Given the description of an element on the screen output the (x, y) to click on. 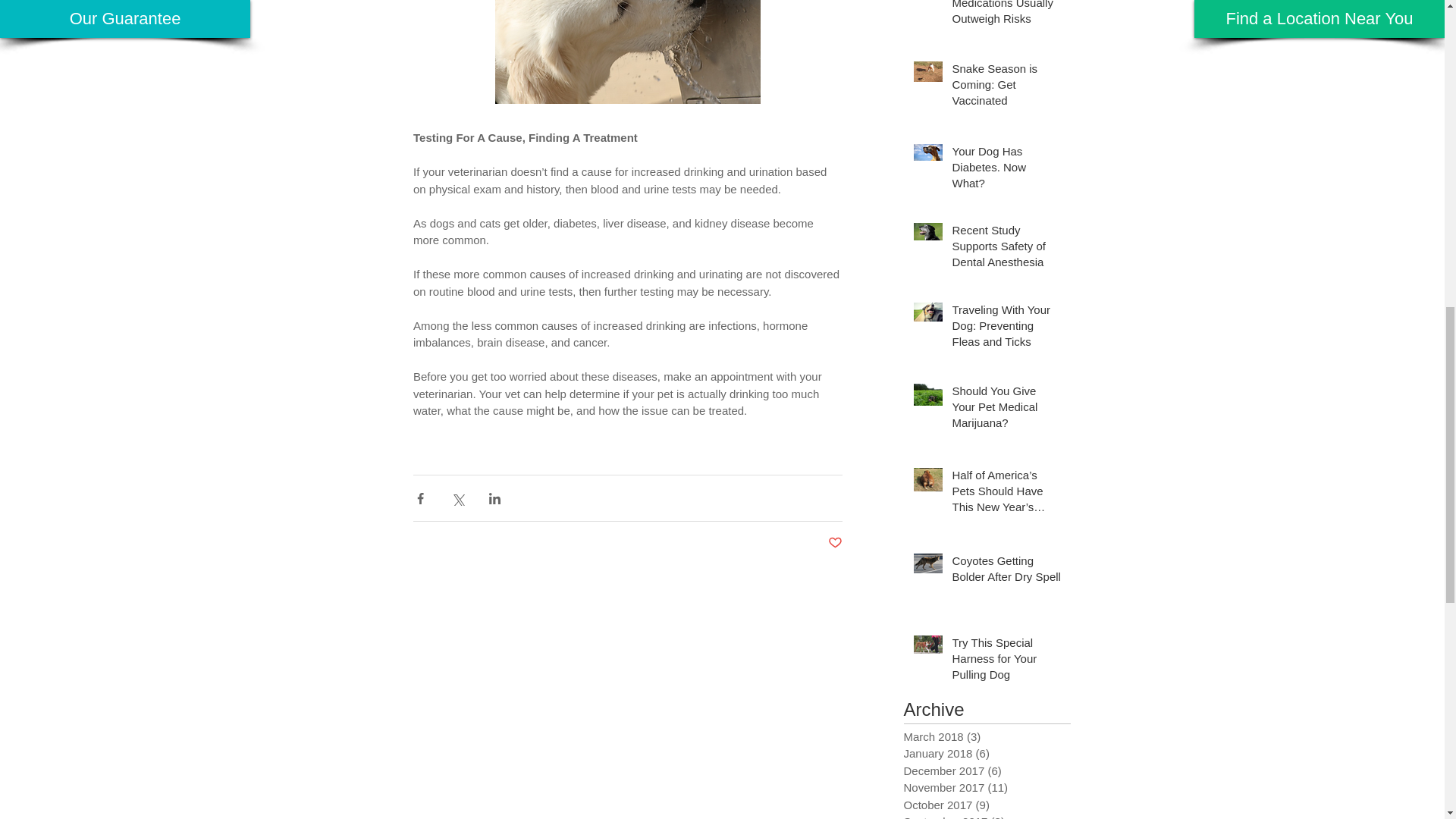
Your Dog Has Diabetes. Now What? (1006, 170)
Benefits of Medications Usually Outweigh Risks (1006, 16)
Try This Special Harness for Your Pulling Dog (1006, 661)
Should You Give Your Pet Medical Marijuana? (1006, 409)
Post not marked as liked (835, 543)
Snake Season is Coming: Get Vaccinated (1006, 87)
Recent Study Supports Safety of Dental Anesthesia (1006, 248)
Traveling With Your Dog: Preventing Fleas and Ticks (1006, 328)
Coyotes Getting Bolder After Dry Spell (1006, 571)
